Given the description of an element on the screen output the (x, y) to click on. 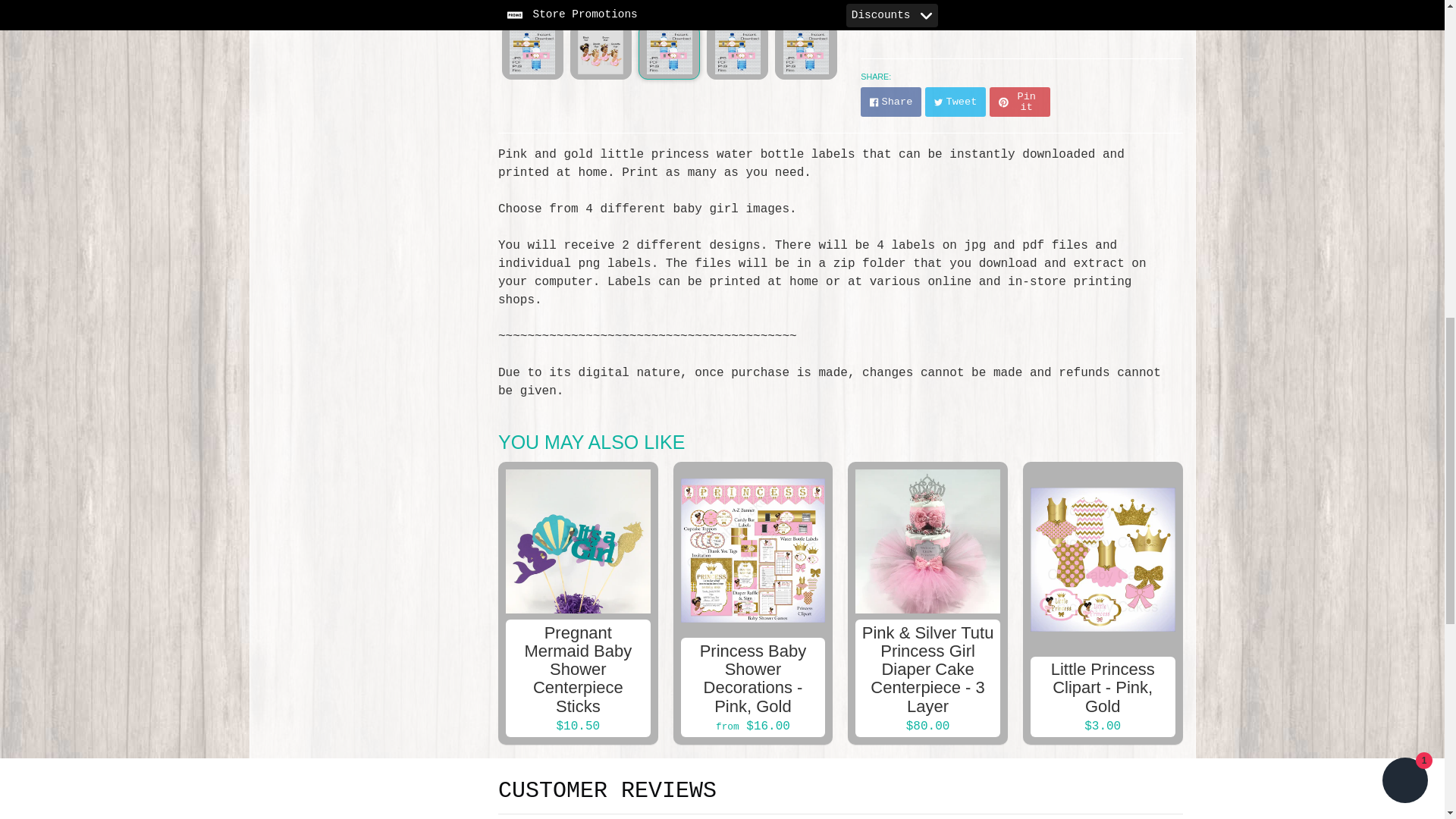
Instant Download Princess Bottle Labels - Pink, Gold (600, 51)
Share on Facebook (890, 101)
Instant Download Princess Bottle Labels - Pink, Gold (669, 51)
Instant Download Princess Bottle Labels - Pink, Gold (804, 51)
Instant Download Princess Bottle Labels - Pink, Gold (737, 51)
Instant Download Princess Bottle Labels - Pink, Gold (532, 51)
